Given the description of an element on the screen output the (x, y) to click on. 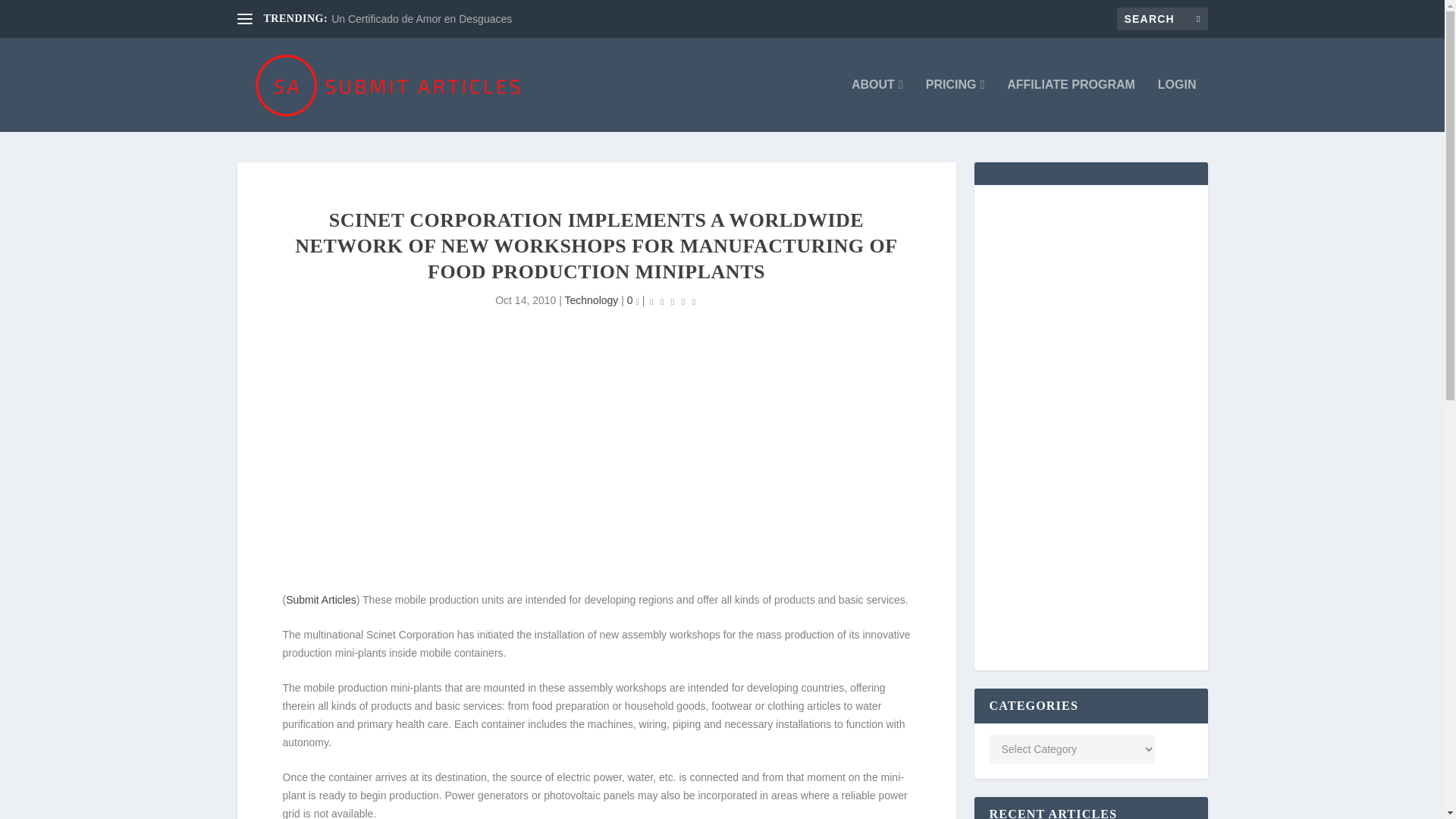
Un Certificado de Amor en Desguaces (421, 19)
Rating: 0.00 (672, 301)
ABOUT (876, 104)
Search for: (1161, 18)
